Given the description of an element on the screen output the (x, y) to click on. 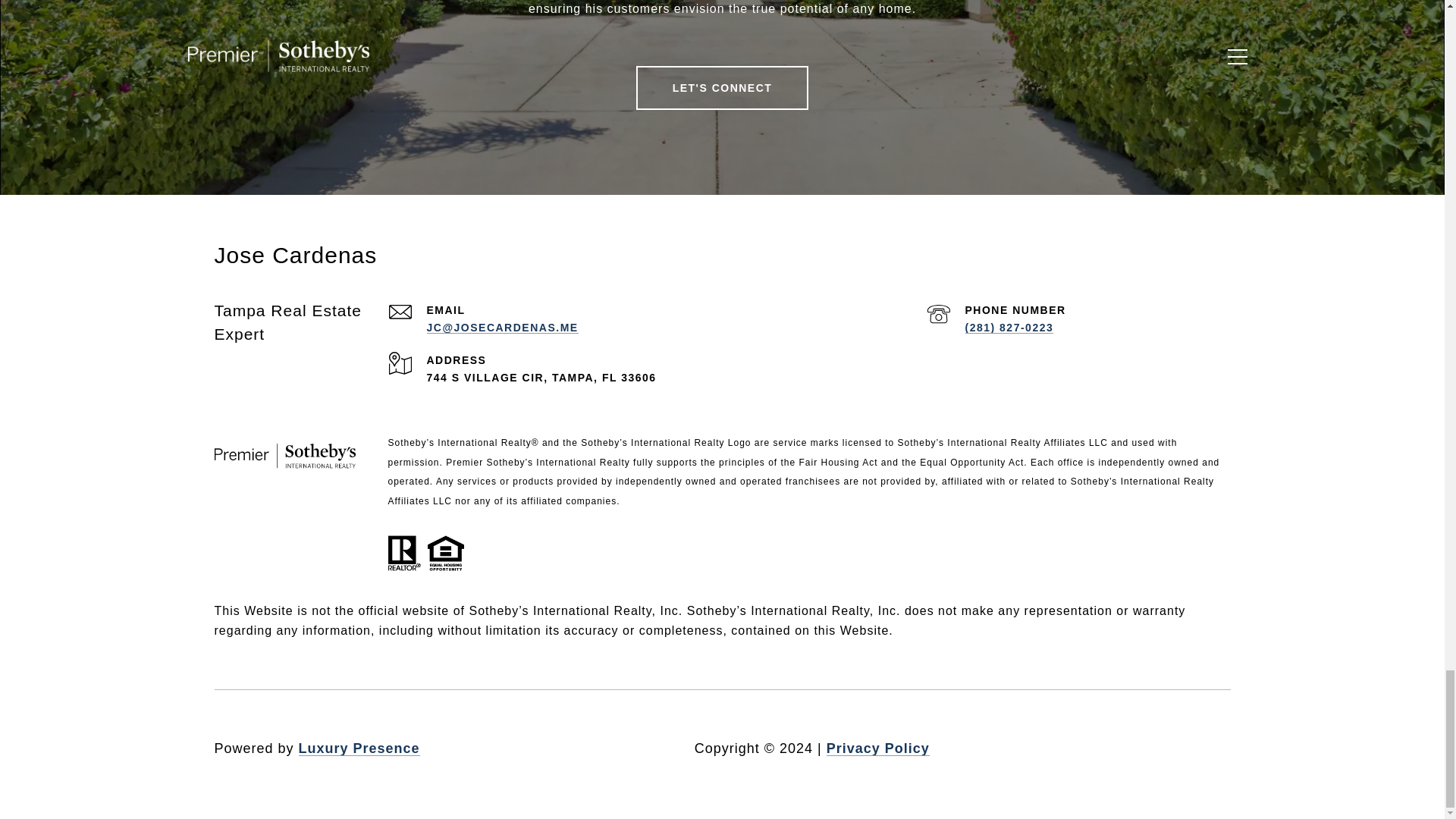
LET'S CONNECT (722, 87)
